Given the description of an element on the screen output the (x, y) to click on. 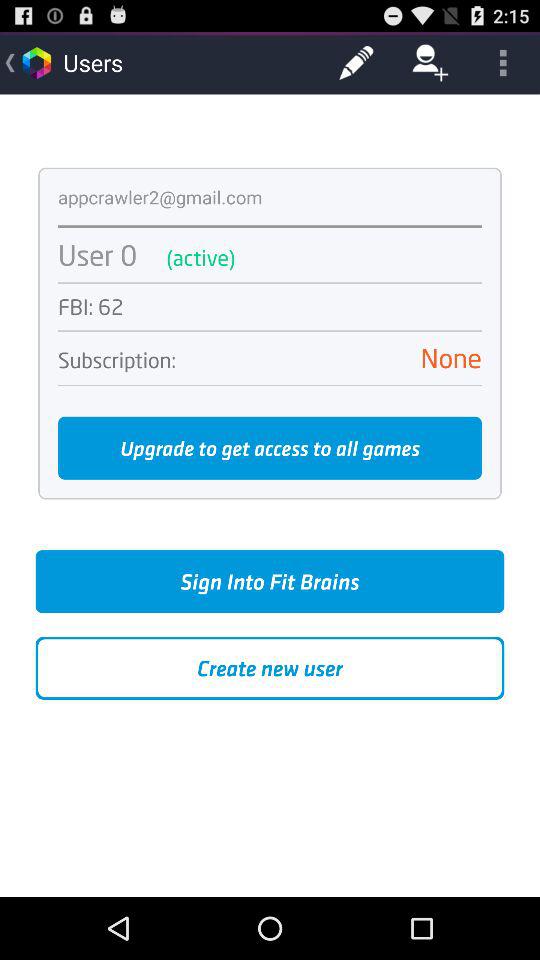
tap item below the user 0 app (269, 282)
